Given the description of an element on the screen output the (x, y) to click on. 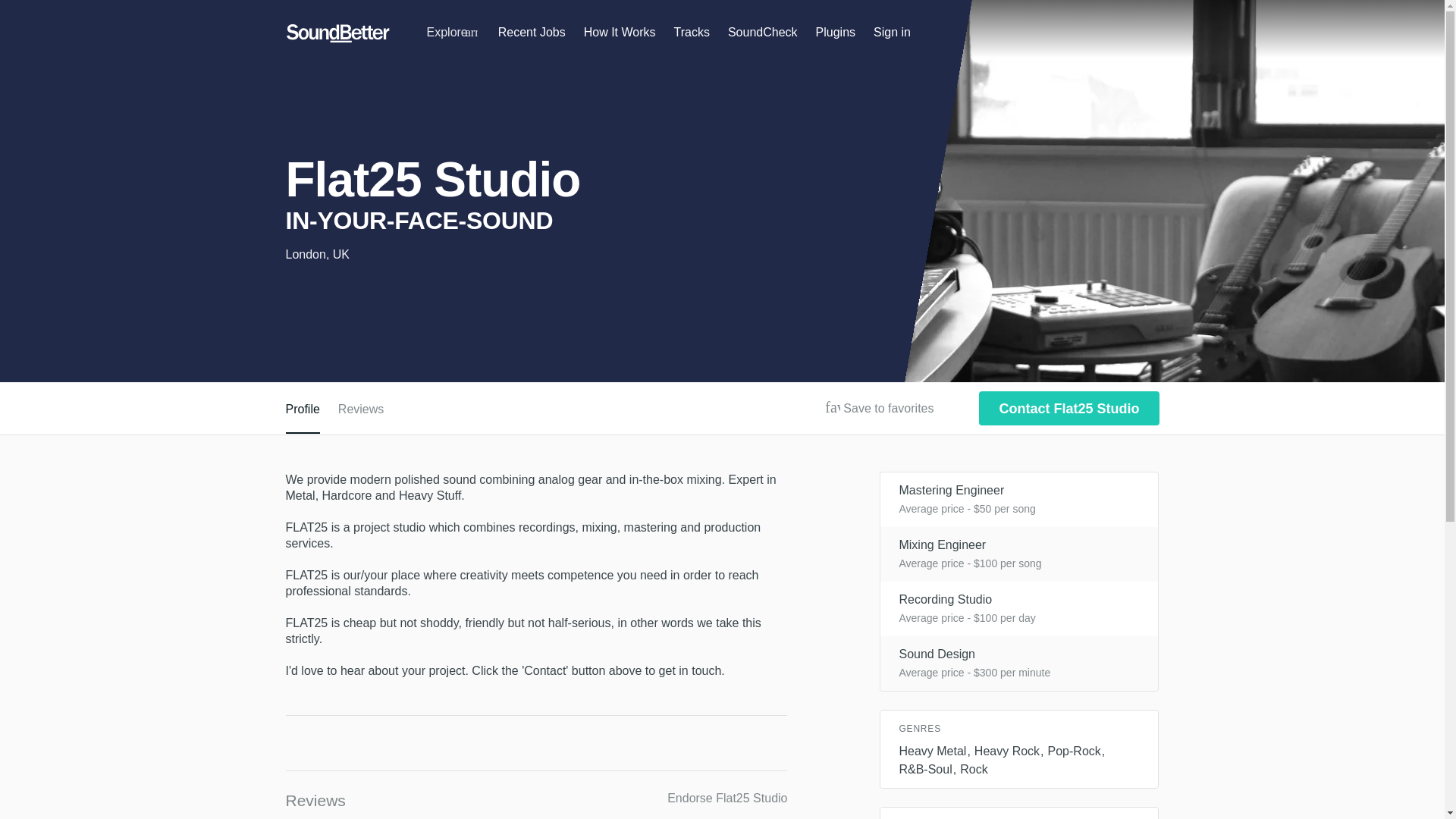
SoundBetter (337, 33)
